Given the description of an element on the screen output the (x, y) to click on. 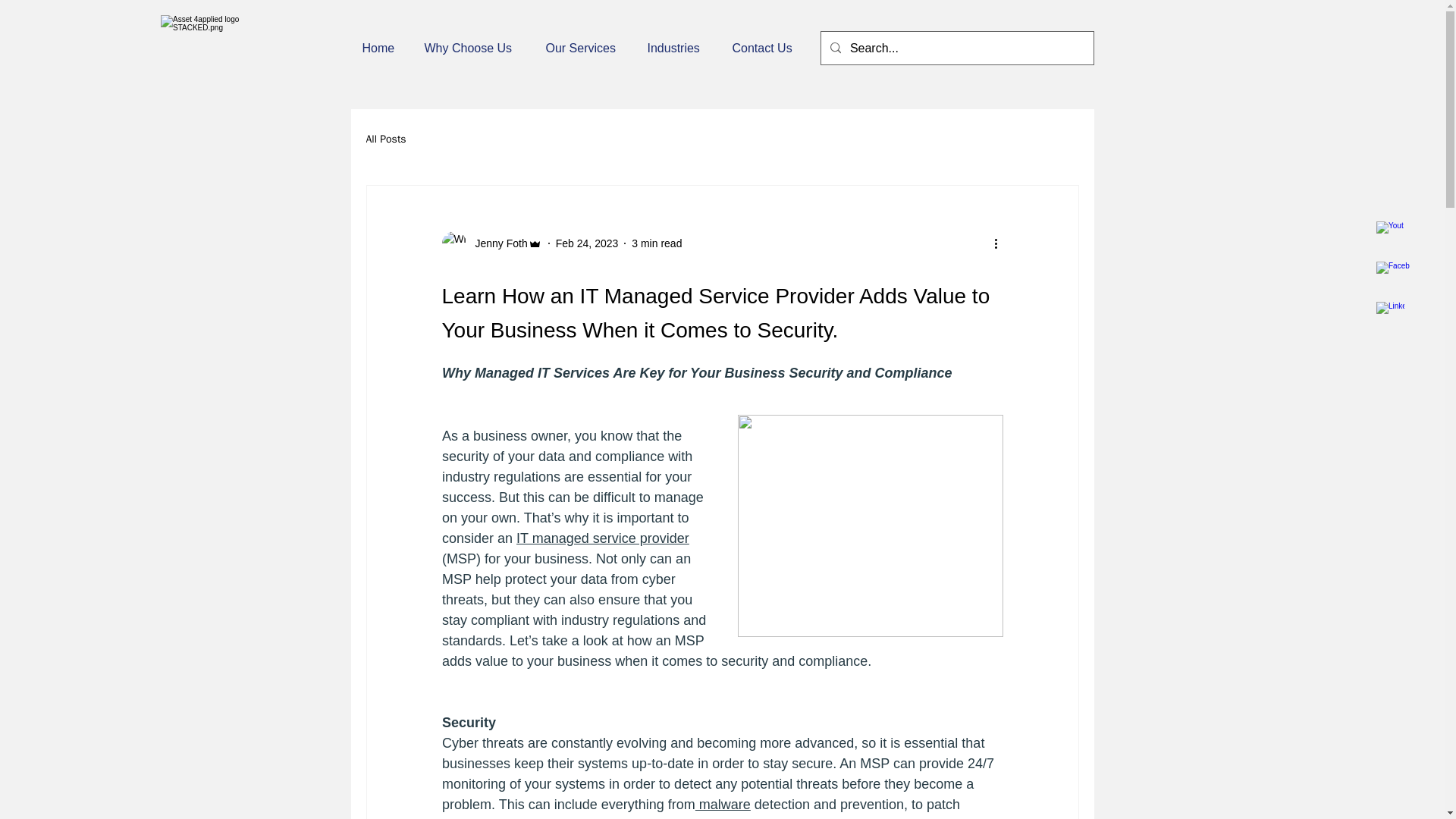
Why Choose Us (473, 48)
Feb 24, 2023 (587, 242)
Jenny Foth (496, 242)
Industries (677, 48)
Our Services (584, 48)
All Posts (385, 139)
Jenny Foth (491, 242)
3 min read (656, 242)
Home (381, 48)
Contact Us (766, 48)
